Given the description of an element on the screen output the (x, y) to click on. 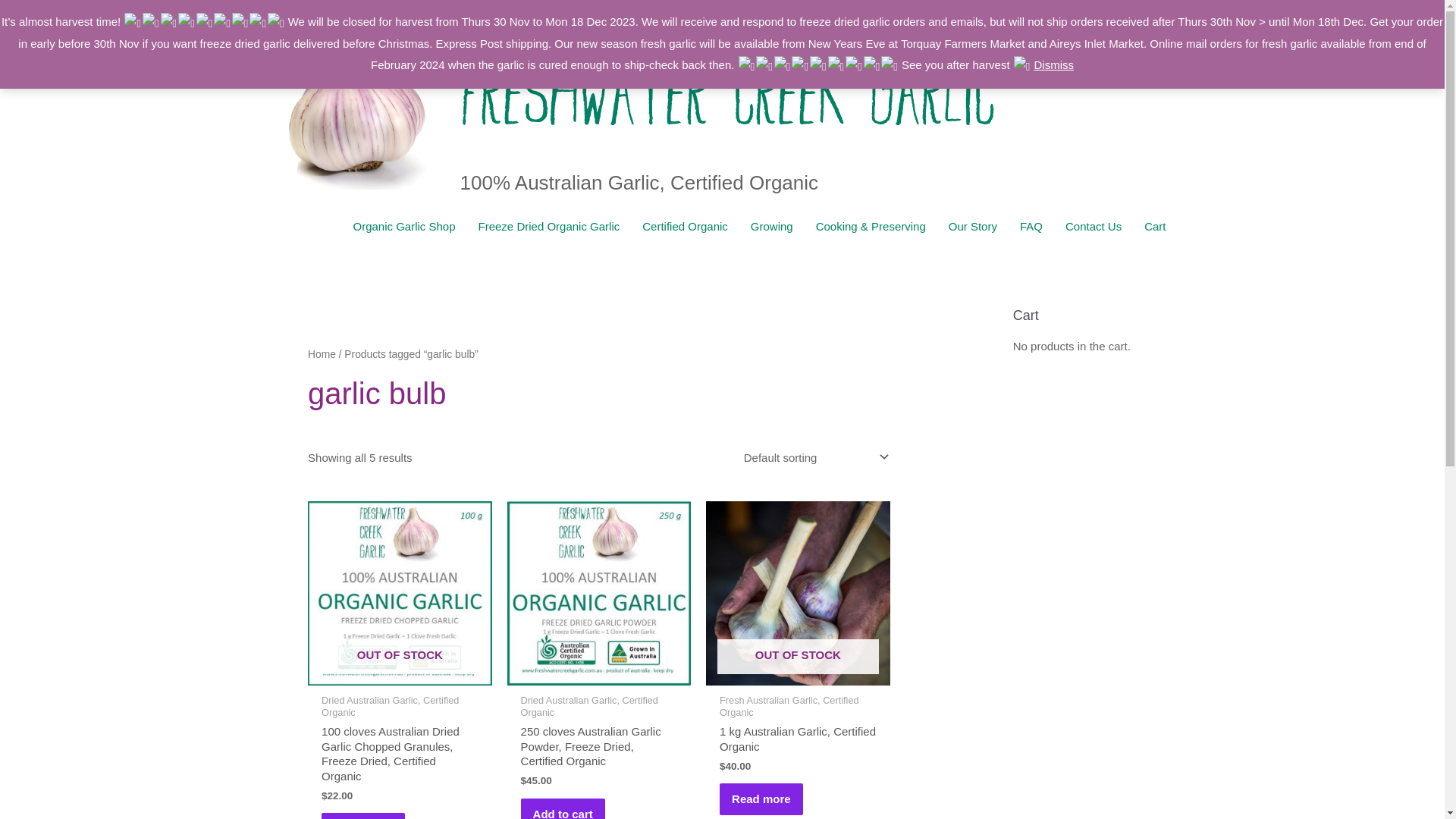
Cooking & Preserving Element type: text (870, 226)
Freshwater Creek Garlic Element type: text (726, 87)
Home Element type: text (321, 354)
Dismiss Element type: text (1054, 64)
Freeze Dried Organic Garlic Element type: text (549, 226)
Cart Element type: text (1154, 226)
Contact Us Element type: text (1093, 226)
FAQ Element type: text (1031, 226)
Growing Element type: text (771, 226)
Certified Organic Element type: text (684, 226)
OUT OF STOCK Element type: text (798, 593)
Read more Element type: text (761, 799)
1 kg Australian Garlic, Certified Organic Element type: text (797, 738)
Organic Garlic Shop Element type: text (403, 226)
Our Story Element type: text (972, 226)
OUT OF STOCK Element type: text (399, 593)
